Given the description of an element on the screen output the (x, y) to click on. 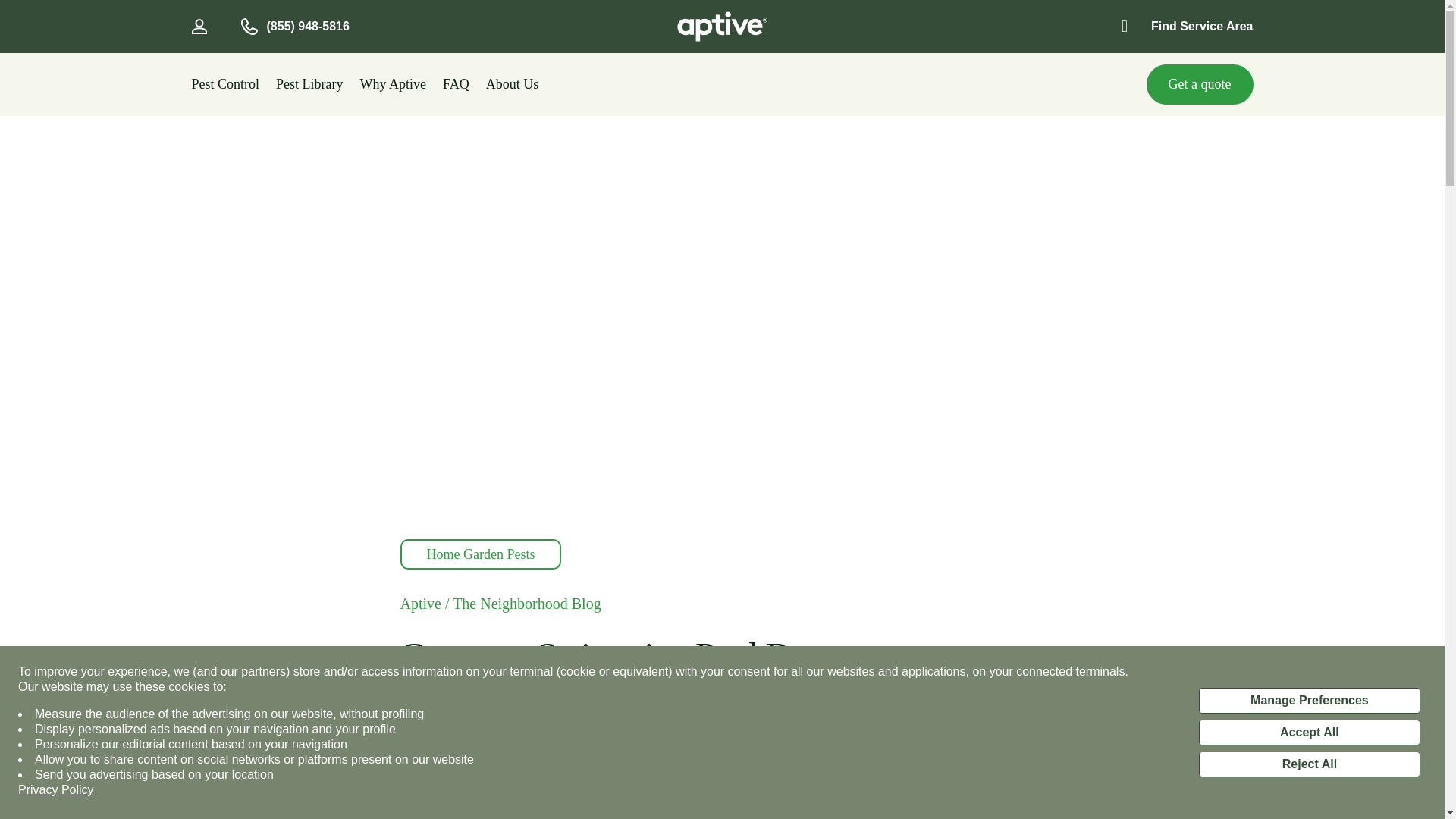
Reject All (1309, 764)
Sign-in to Account (198, 26)
Pest Control (224, 86)
Pest Library (309, 86)
Manage Preferences (1309, 700)
Call Us (249, 26)
Why Aptive (392, 86)
Privacy Policy (55, 789)
Accept All (1309, 732)
aptive-registered-logo-white (722, 26)
